Given the description of an element on the screen output the (x, y) to click on. 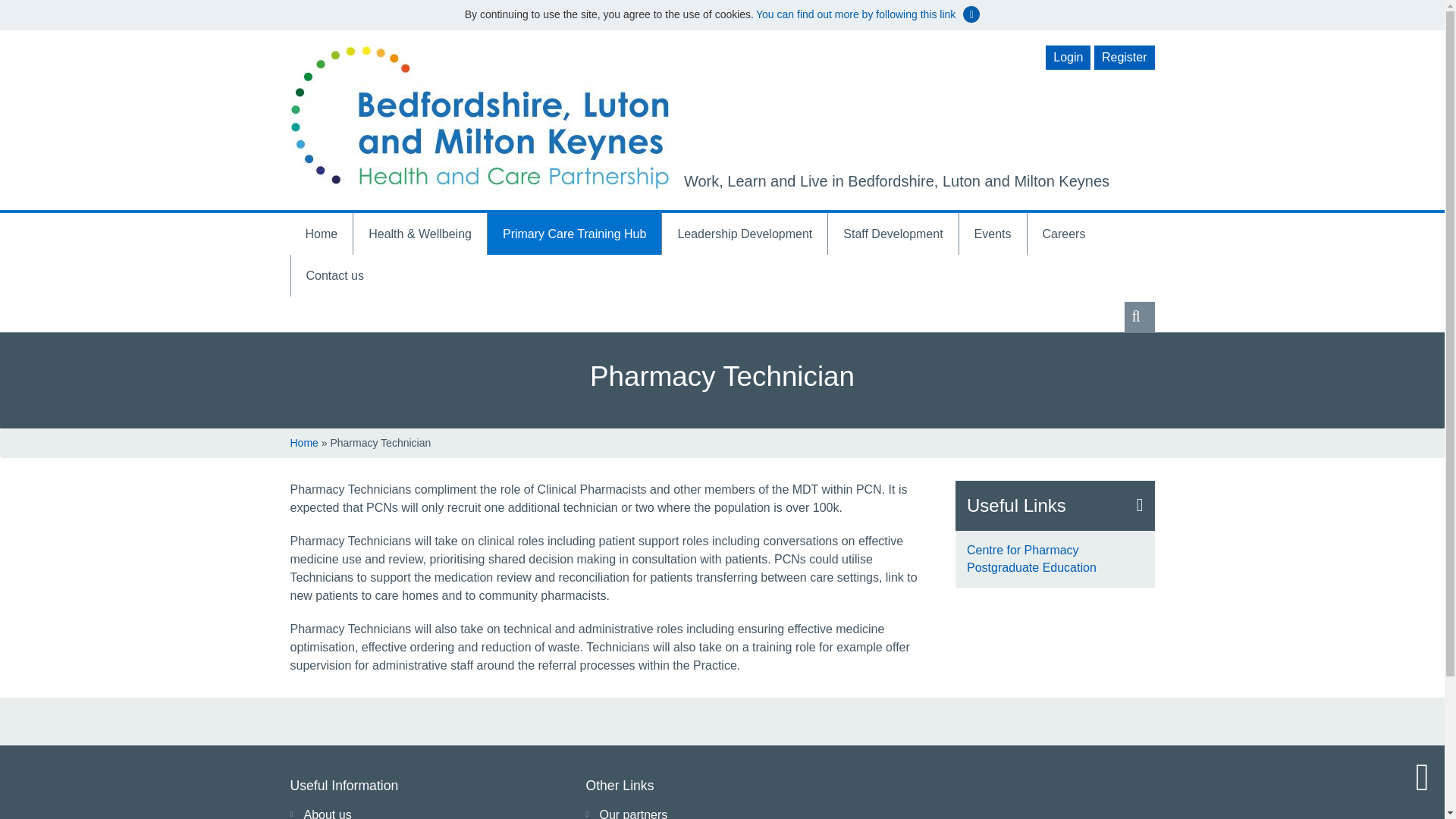
BLMK ICB (478, 117)
Home (320, 233)
Staff Development (893, 233)
Leadership Development (744, 233)
Login (1067, 57)
Primary Care Training Hub (574, 233)
You can find out more by following this link (855, 14)
Register (1124, 57)
